Given the description of an element on the screen output the (x, y) to click on. 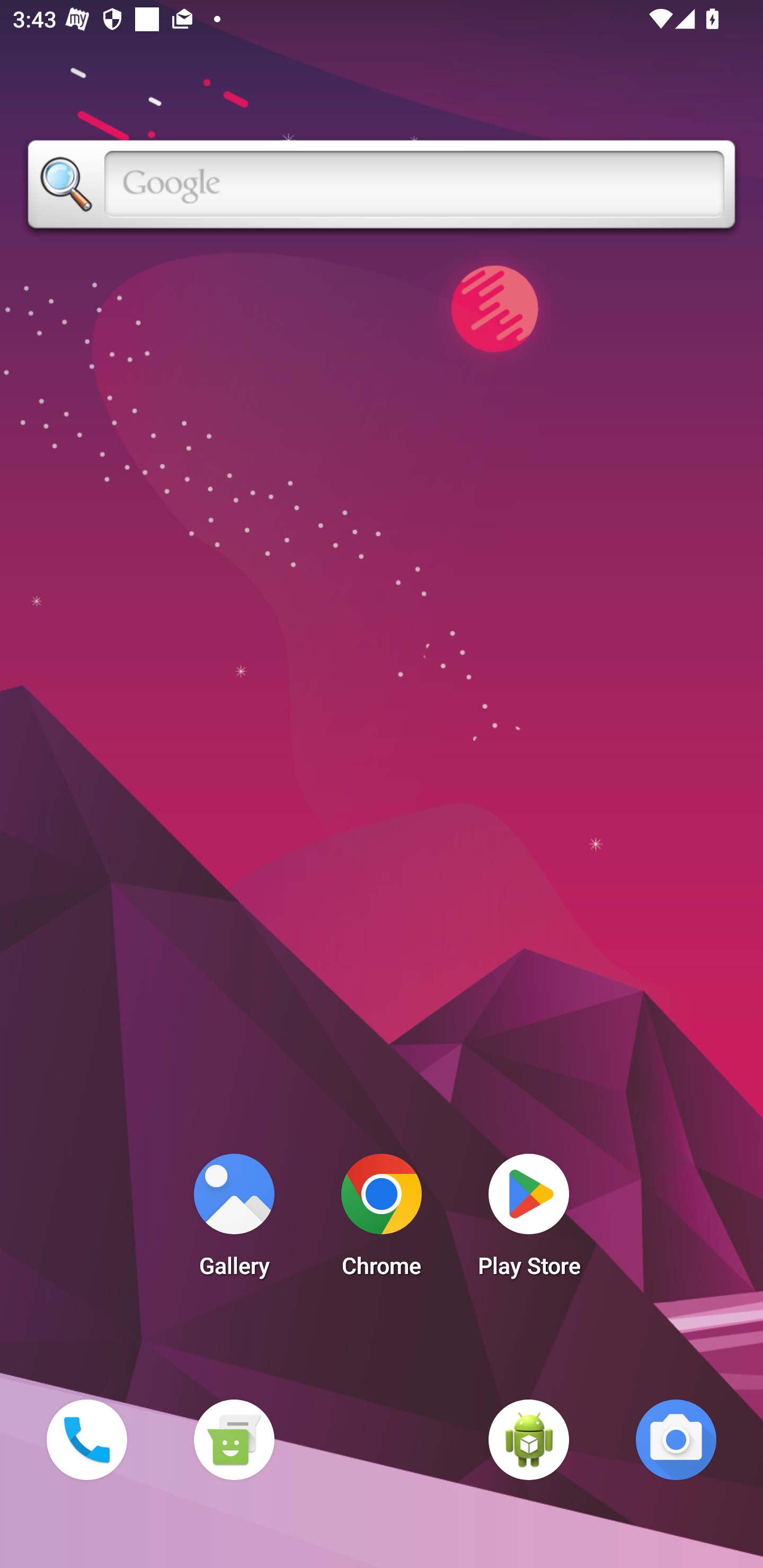
Gallery (233, 1220)
Chrome (381, 1220)
Play Store (528, 1220)
Phone (86, 1439)
Messaging (233, 1439)
WebView Browser Tester (528, 1439)
Camera (676, 1439)
